Given the description of an element on the screen output the (x, y) to click on. 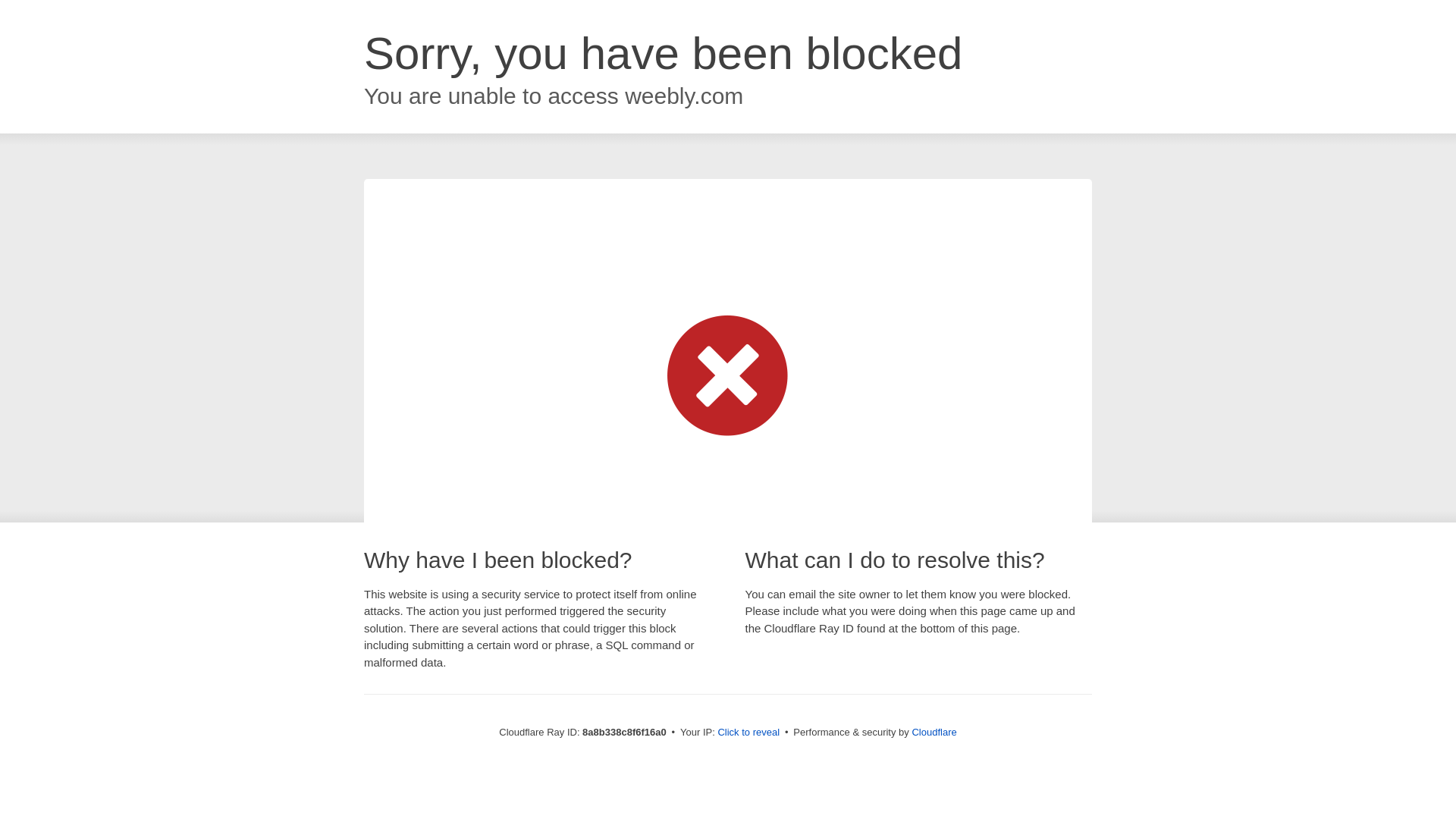
Cloudflare (933, 731)
Click to reveal (747, 732)
